Given the description of an element on the screen output the (x, y) to click on. 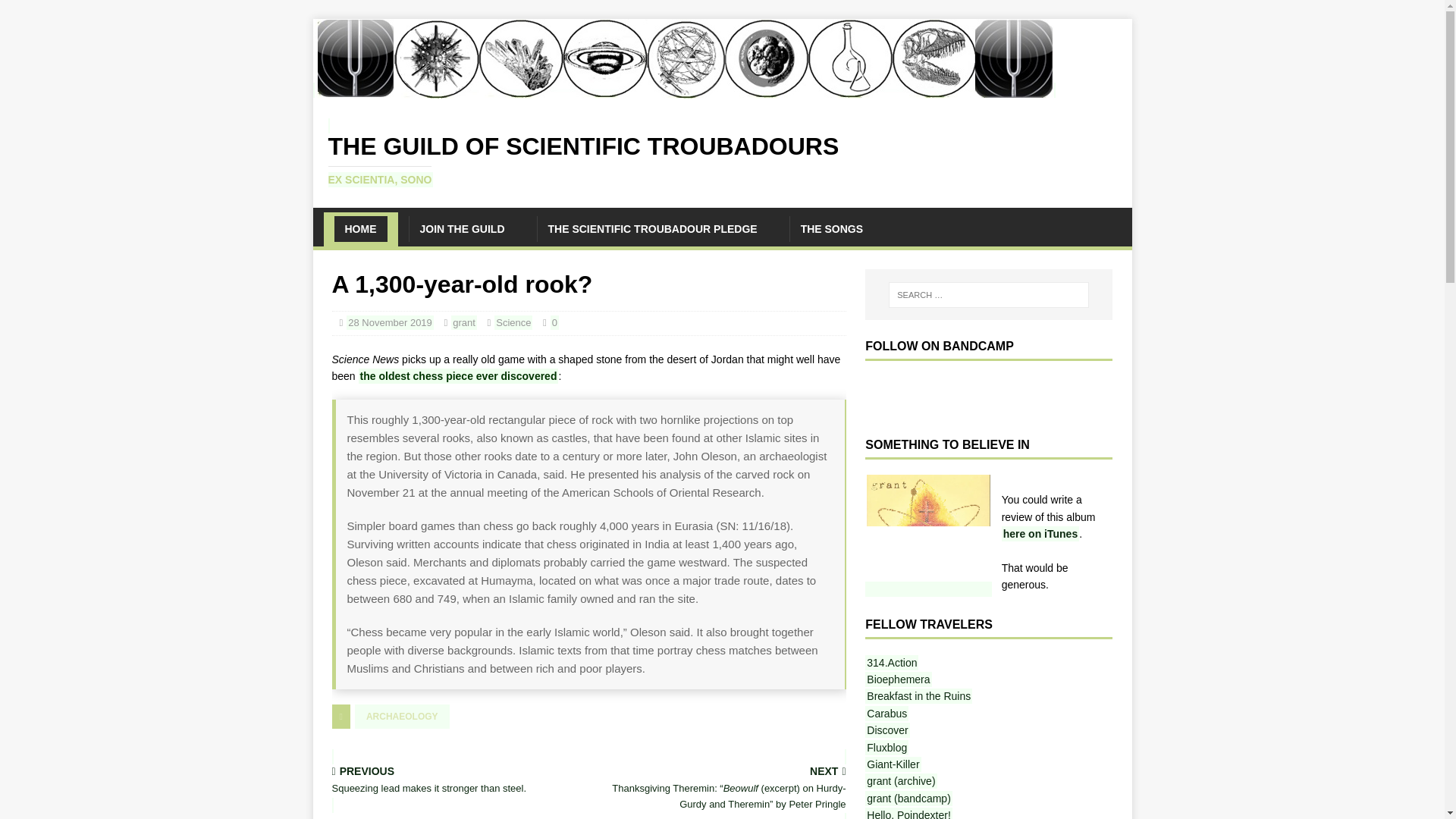
ARCHAEOLOGY (402, 716)
314.Action (891, 662)
the guildmaster (900, 780)
the oldest chess piece ever discovered (458, 376)
Hello, Poindexter! (908, 813)
Science (513, 322)
Breakfast in the Ruins (918, 695)
Fluxblog (886, 747)
JOIN THE GUILD (461, 228)
grant (464, 322)
